Given the description of an element on the screen output the (x, y) to click on. 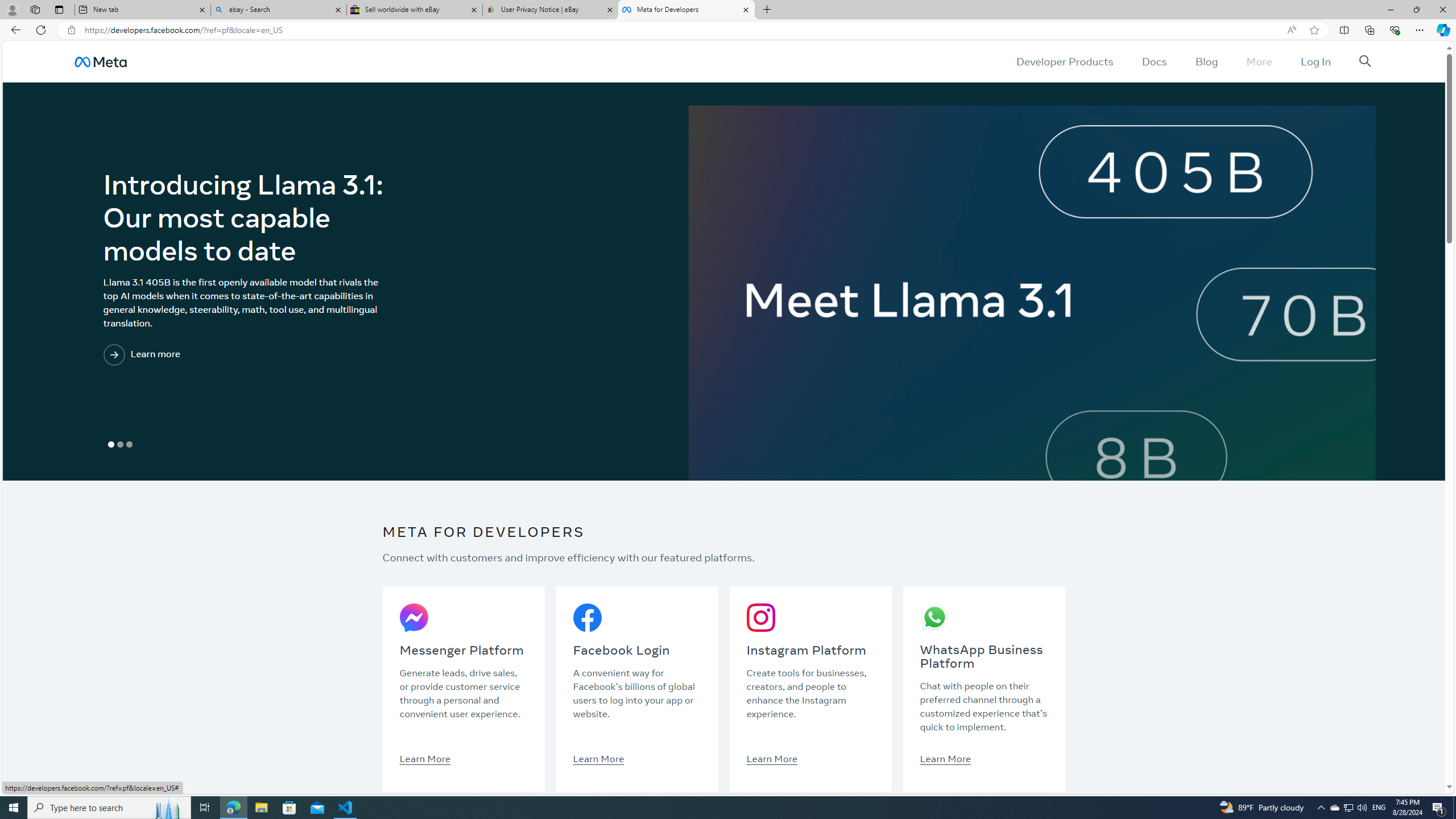
Docs (1153, 61)
Log In (1315, 61)
Show Slide 2 (119, 444)
User Privacy Notice | eBay (550, 9)
